Given the description of an element on the screen output the (x, y) to click on. 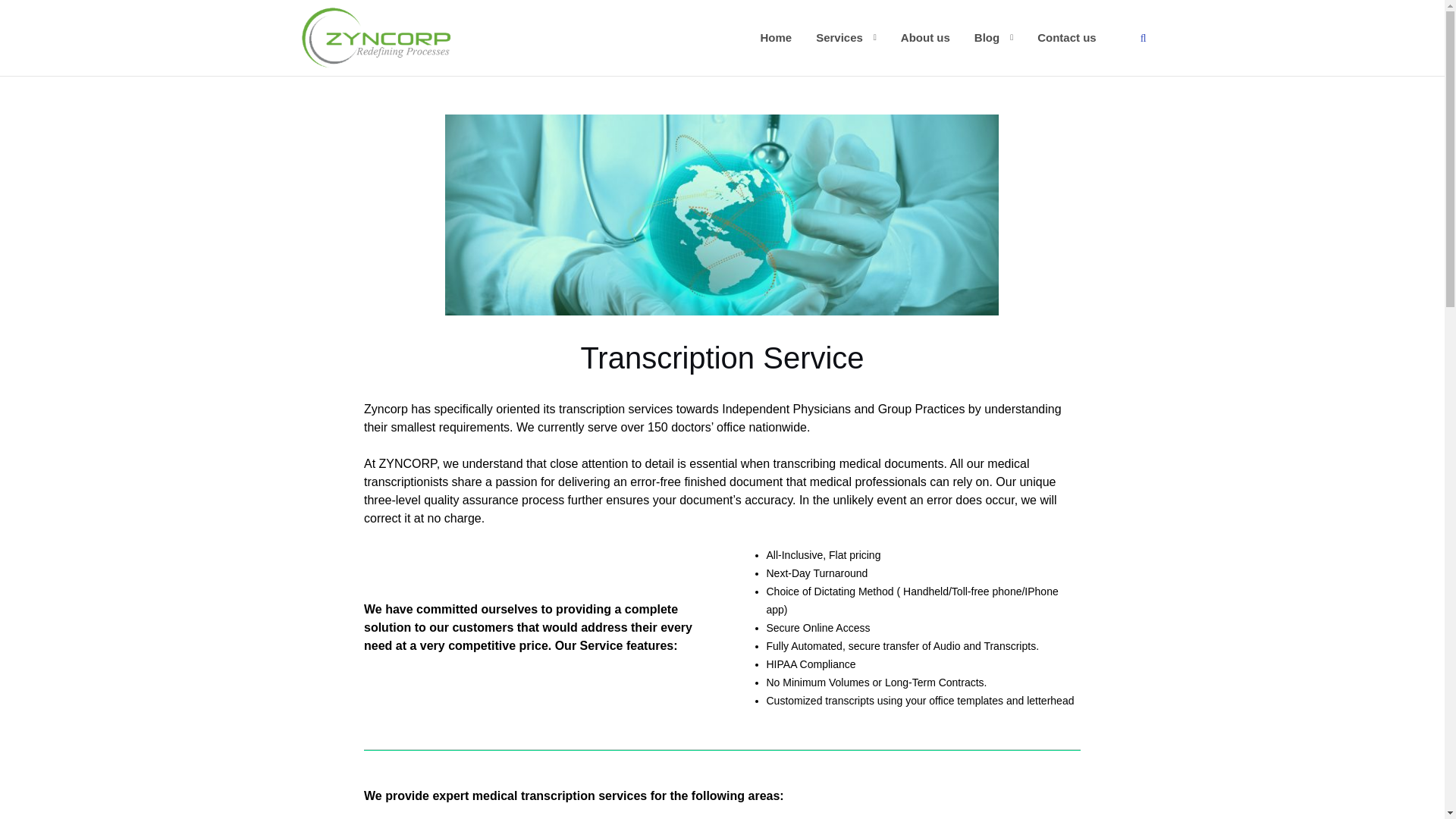
Services (839, 37)
Contact us (1066, 37)
Contact us (1066, 37)
About us (925, 37)
Services (839, 37)
Transcription Service (721, 223)
About us (925, 37)
